Given the description of an element on the screen output the (x, y) to click on. 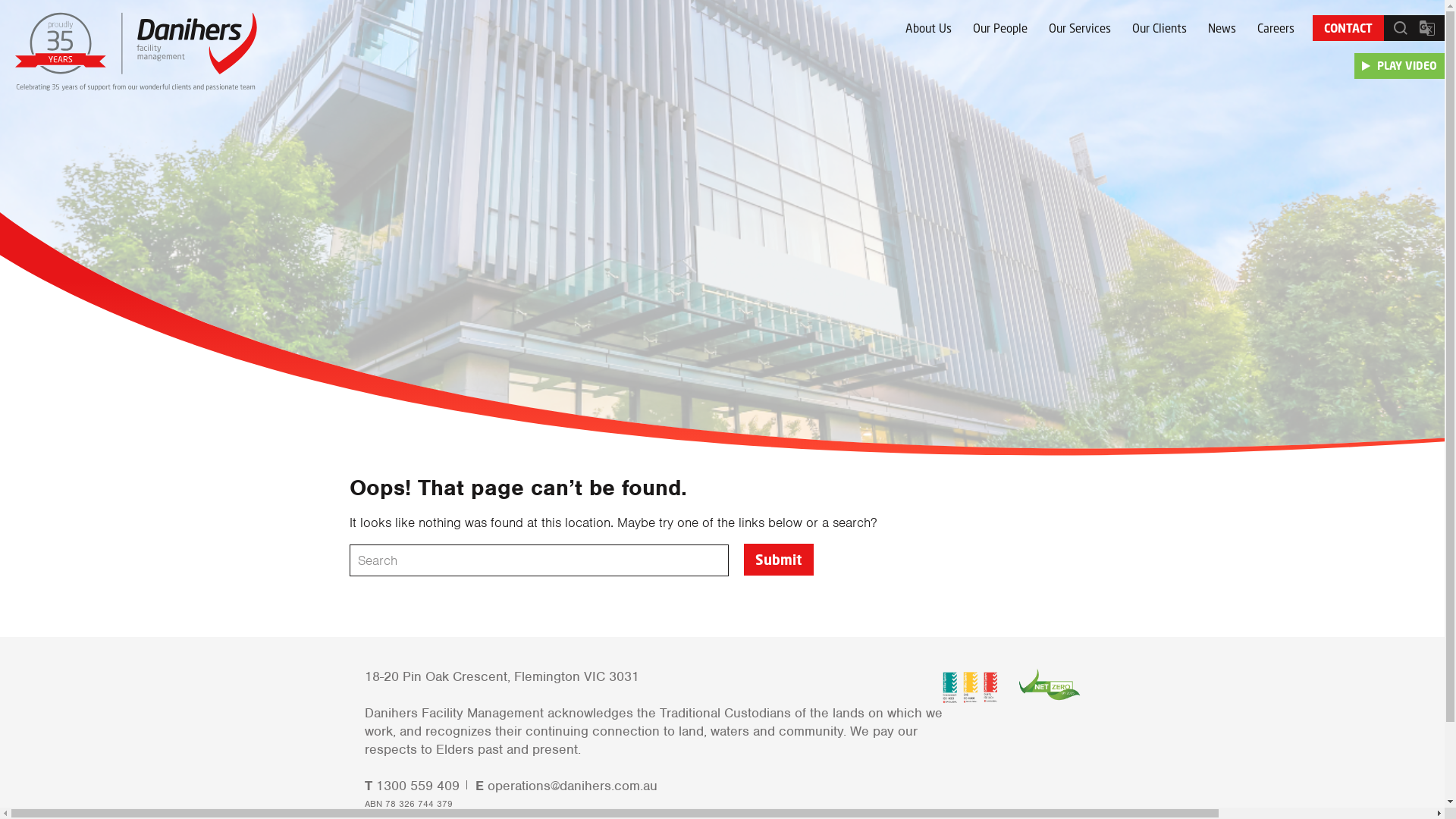
Our Services Element type: text (1078, 27)
Our People Element type: text (999, 27)
Careers Element type: text (1275, 27)
About Us Element type: text (928, 27)
Our Clients Element type: text (1158, 27)
News Element type: text (1220, 27)
1300 559 409 Element type: text (417, 785)
operations@danihers.com.au Element type: text (571, 785)
CONTACT Element type: text (1347, 27)
Submit Element type: text (777, 559)
PLAY VIDEO Element type: text (1399, 65)
